Given the description of an element on the screen output the (x, y) to click on. 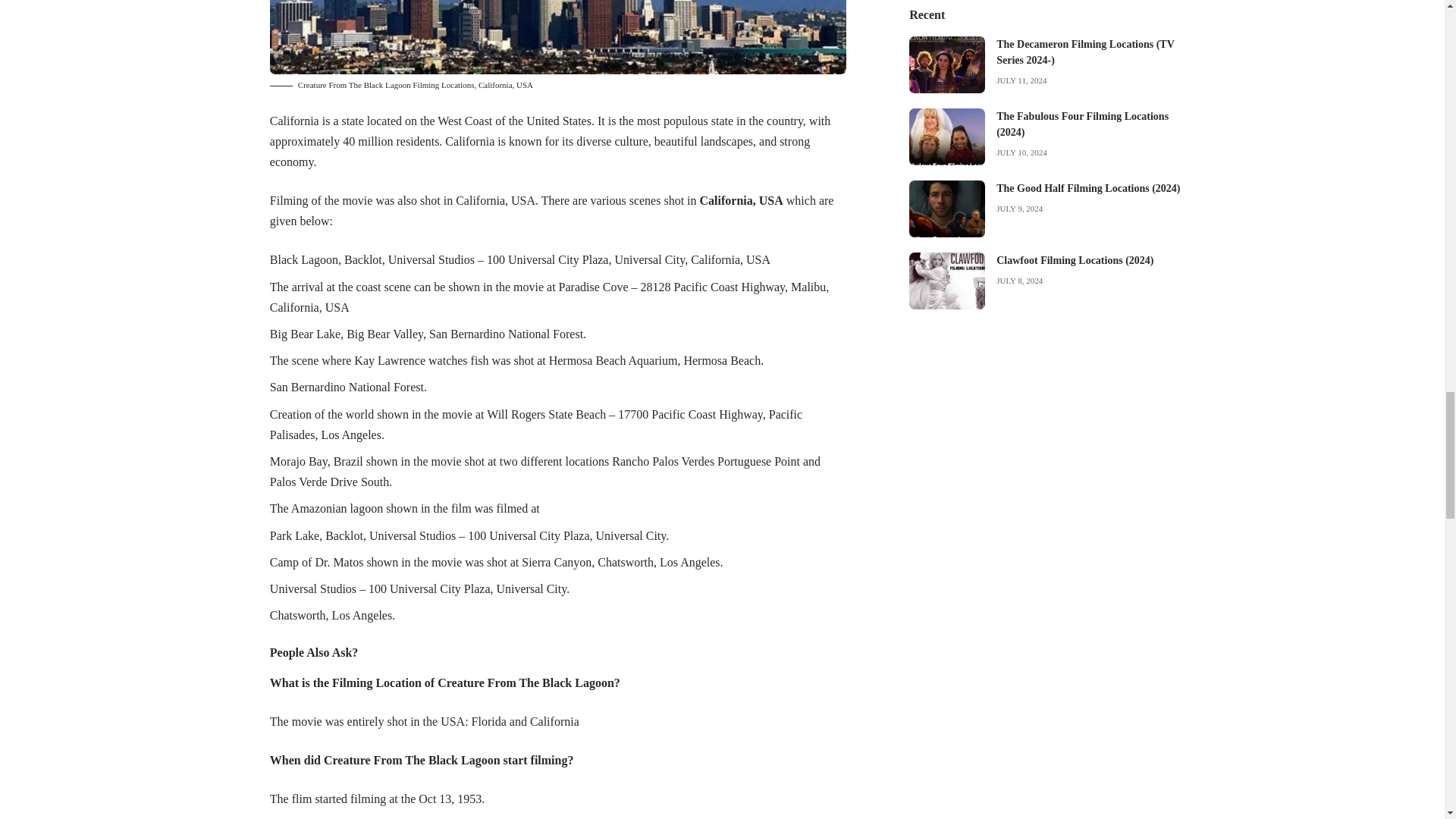
Creature From The Black Lagoon Filming Locations 5 (557, 37)
